Given the description of an element on the screen output the (x, y) to click on. 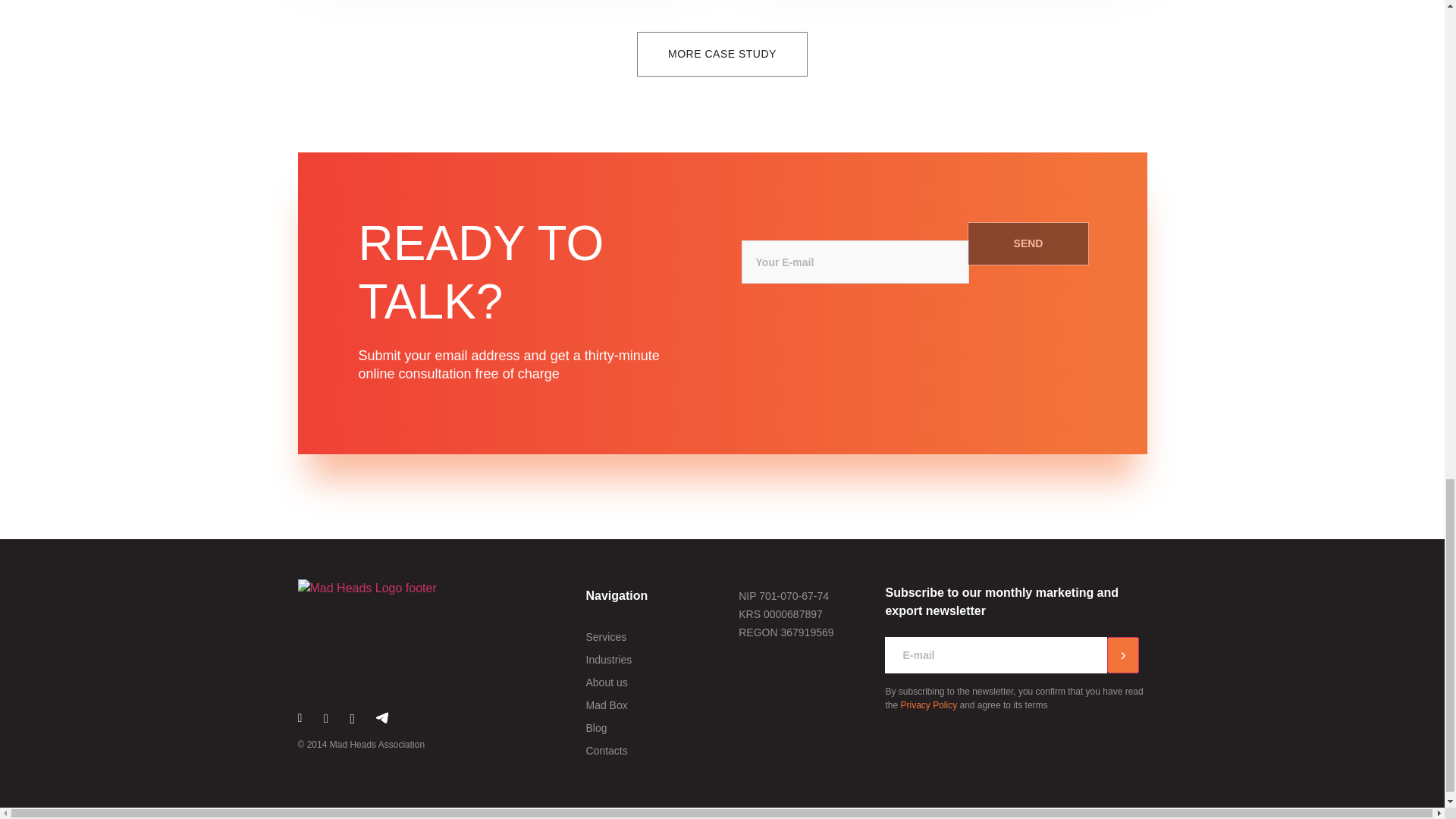
MORE CASE STUDY (722, 53)
SEND (1028, 243)
Mad Heads Logo footer (366, 588)
